Given the description of an element on the screen output the (x, y) to click on. 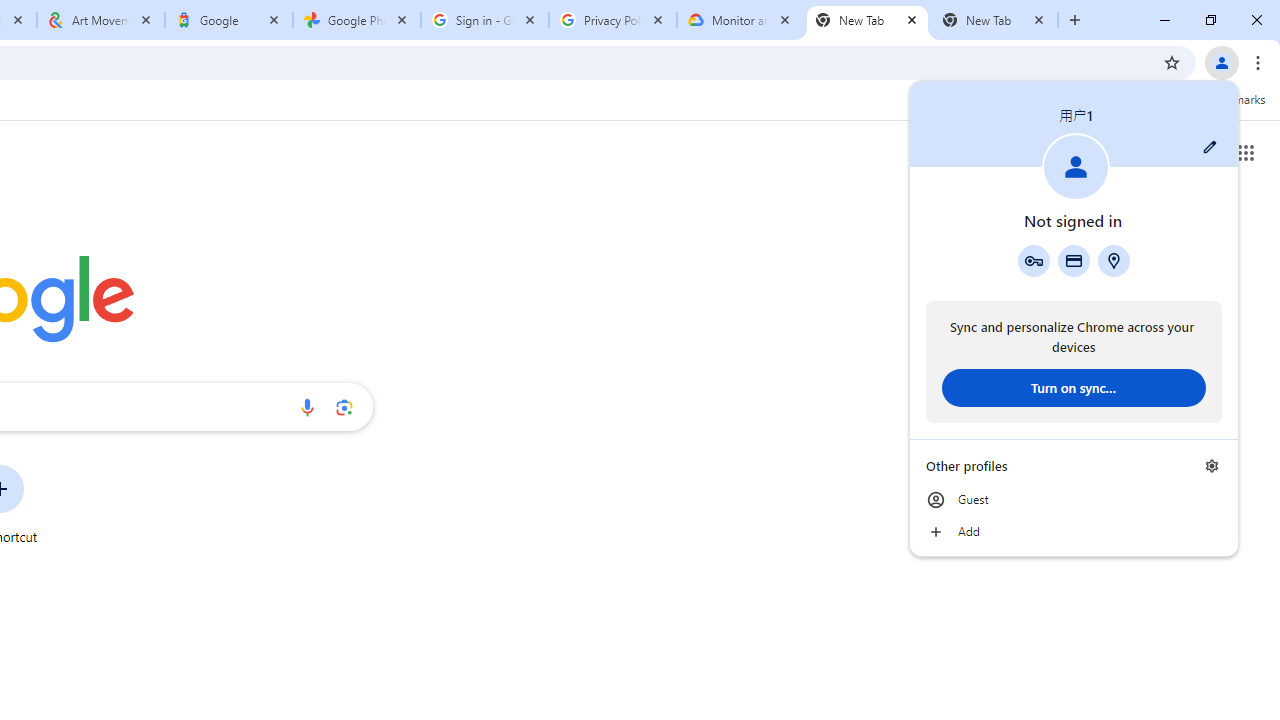
Search by voice (307, 407)
Sign in - Google Accounts (485, 20)
Guest (1073, 499)
